Given the description of an element on the screen output the (x, y) to click on. 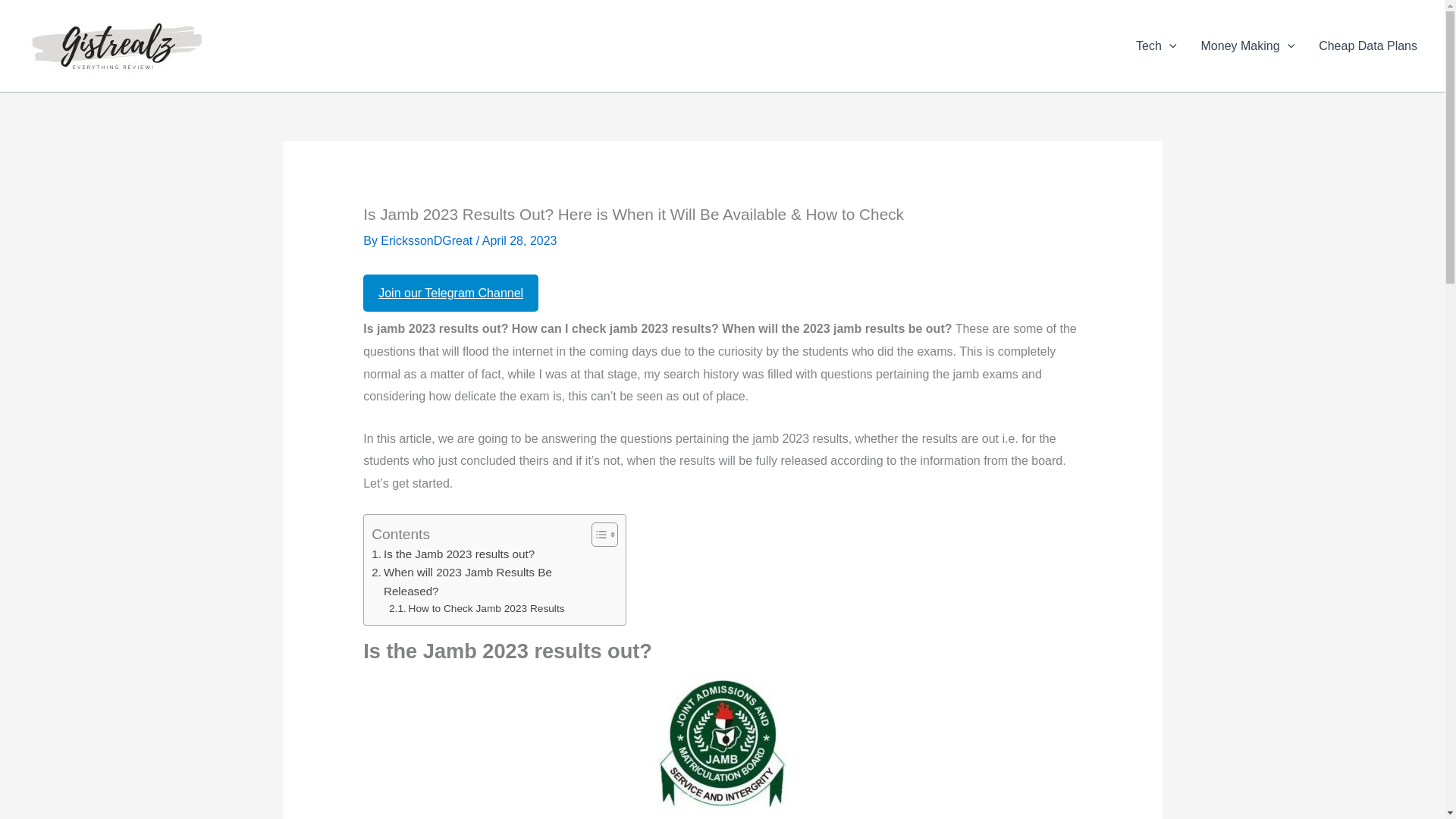
When will 2023 Jamb Results Be Released? (477, 581)
How to Check Jamb 2023 Results (476, 608)
Join our Telegram Channel (450, 293)
Money Making (1248, 45)
How to Check Jamb 2023 Results (476, 608)
View all posts by ErickssonDGreat (428, 240)
Is the Jamb 2023 results out? (452, 554)
Cheap Data Plans (1367, 45)
ErickssonDGreat (428, 240)
When will 2023 Jamb Results Be Released? (477, 581)
